Given the description of an element on the screen output the (x, y) to click on. 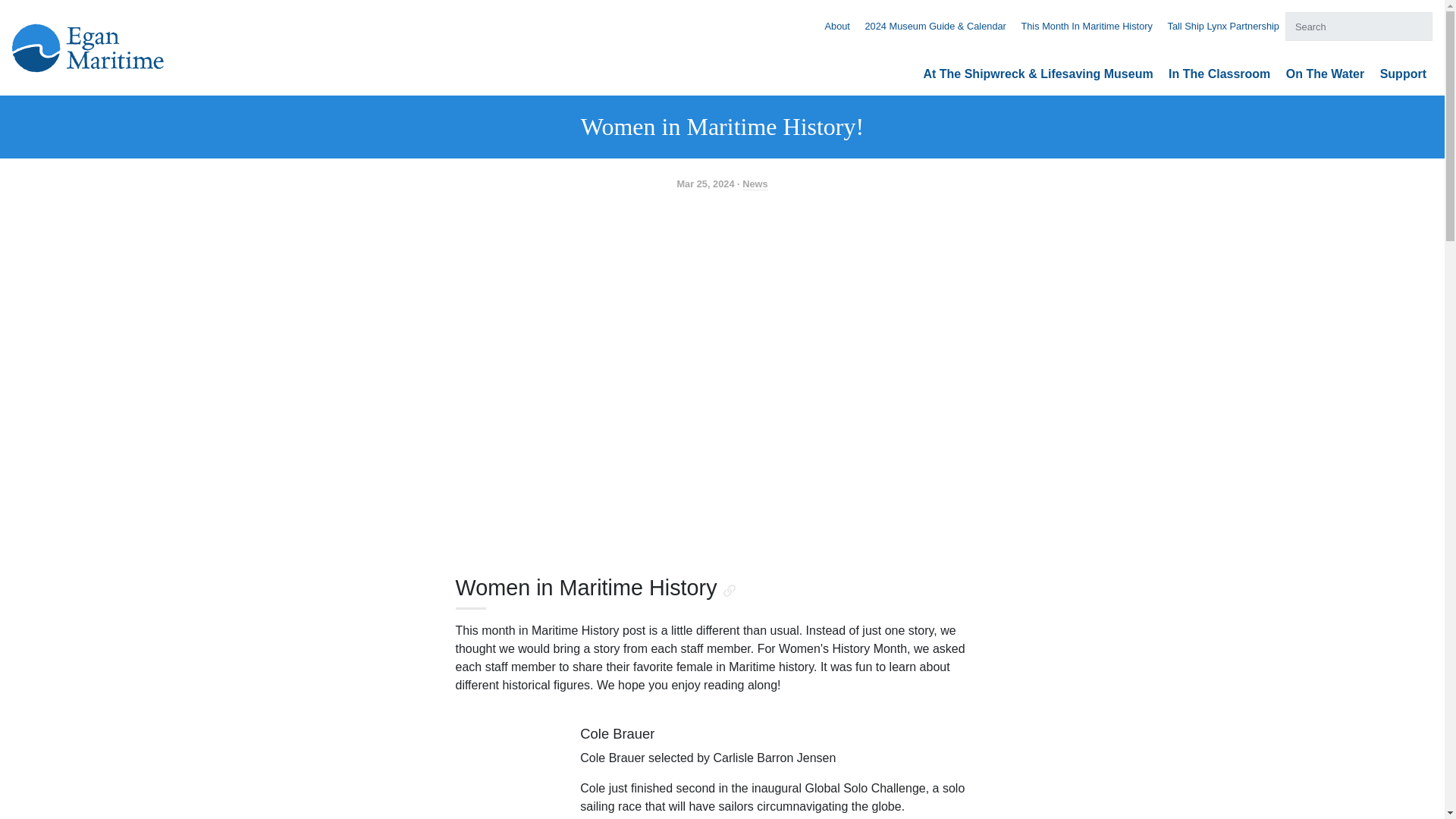
About (836, 25)
News (754, 184)
On The Water (1324, 73)
In The Classroom (1219, 73)
Tall Ship Lynx Partnership (1223, 25)
This Month In Maritime History (1086, 25)
Support (1403, 73)
